Given the description of an element on the screen output the (x, y) to click on. 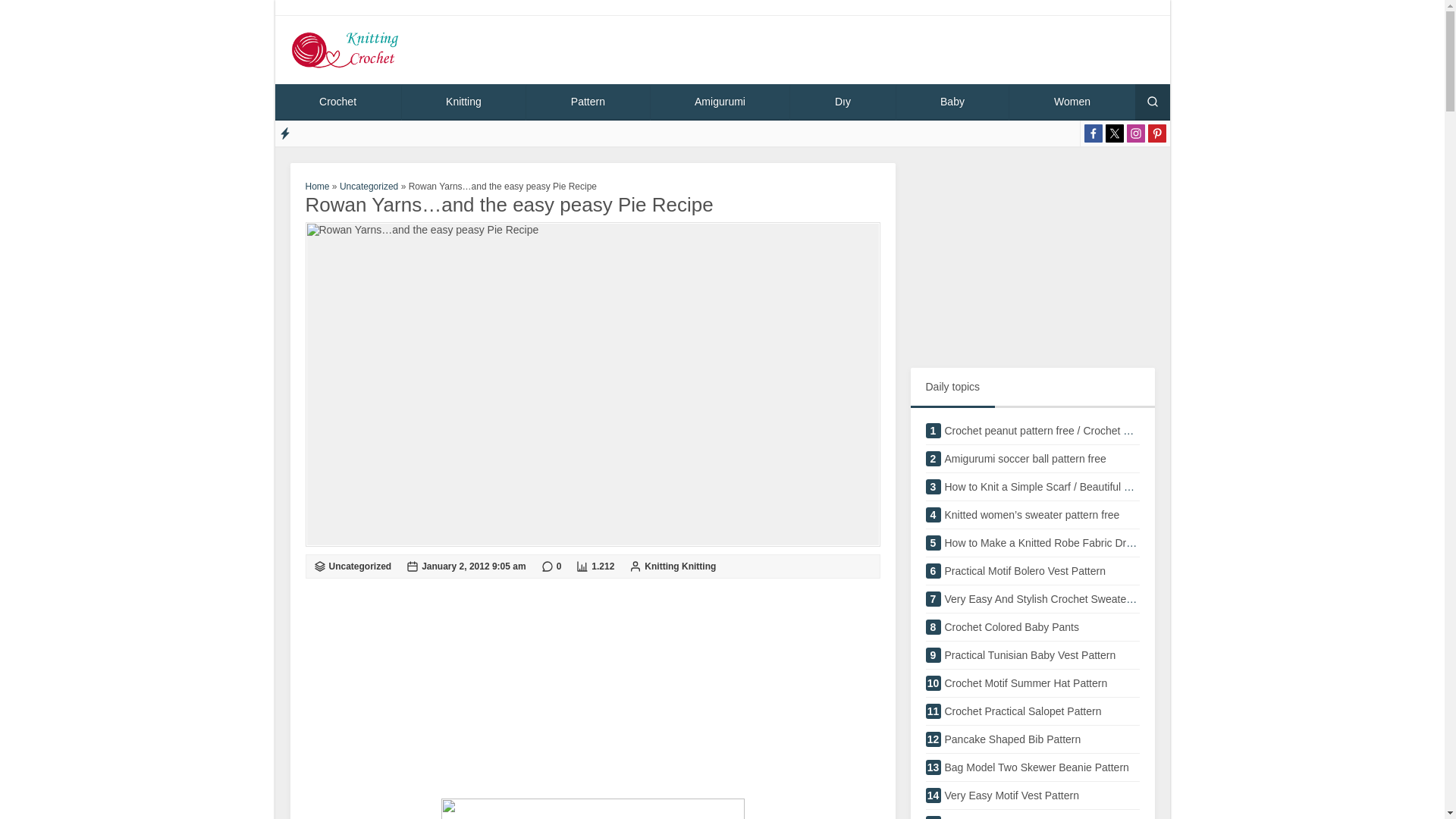
Women (1071, 102)
Follow us on Instagram (1135, 133)
Baby (1031, 574)
Click to search (952, 102)
Posts by Knitting Knitting (1031, 686)
Knittting Crochet (1151, 102)
Follow us on Pinterest (680, 566)
